Given the description of an element on the screen output the (x, y) to click on. 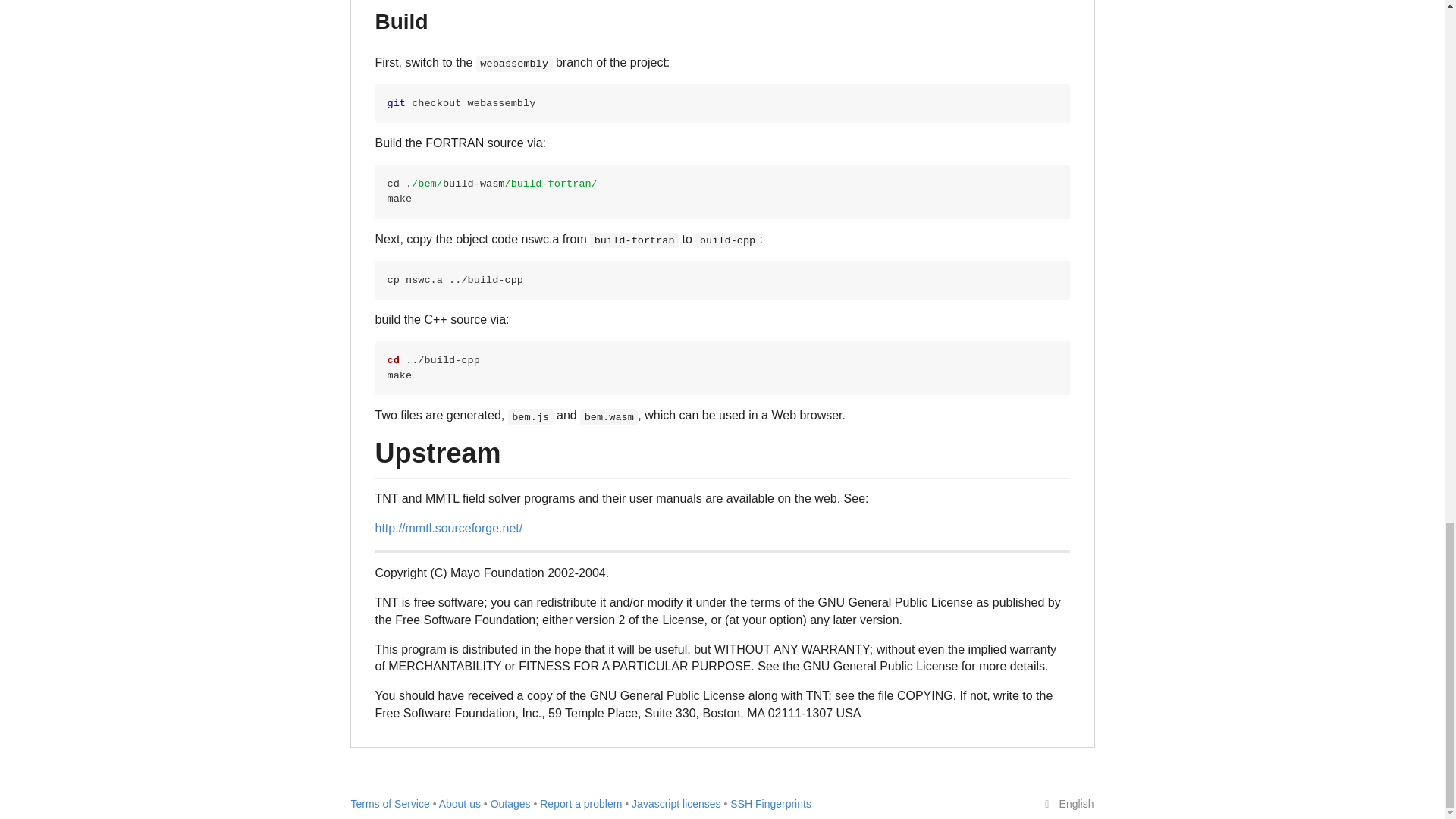
Javascript licenses (675, 803)
About us (459, 803)
Outages (510, 803)
Report a problem (580, 803)
Terms of Service (389, 803)
SSH Fingerprints (770, 803)
